Given the description of an element on the screen output the (x, y) to click on. 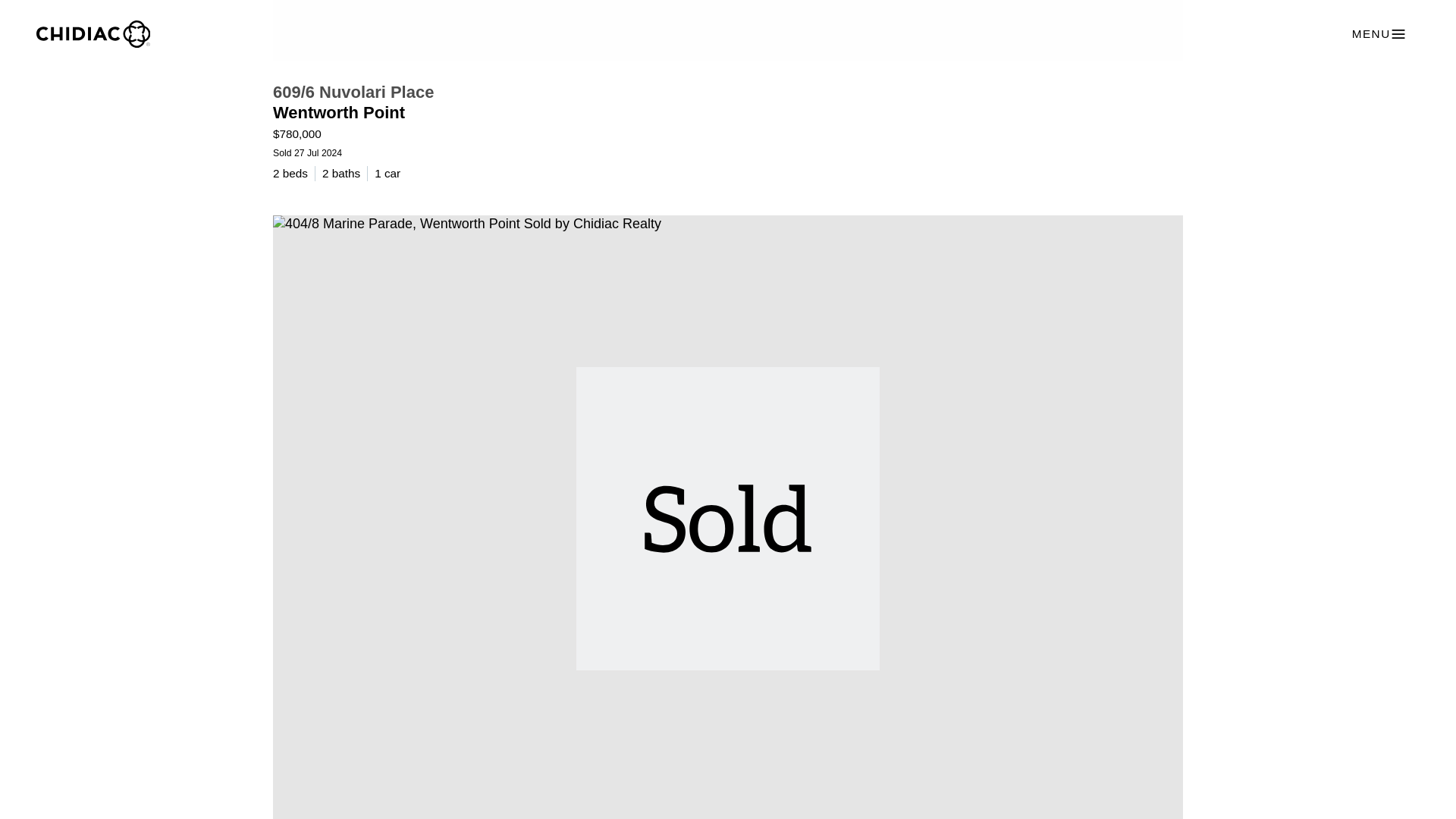
SOLD (727, 30)
